Given the description of an element on the screen output the (x, y) to click on. 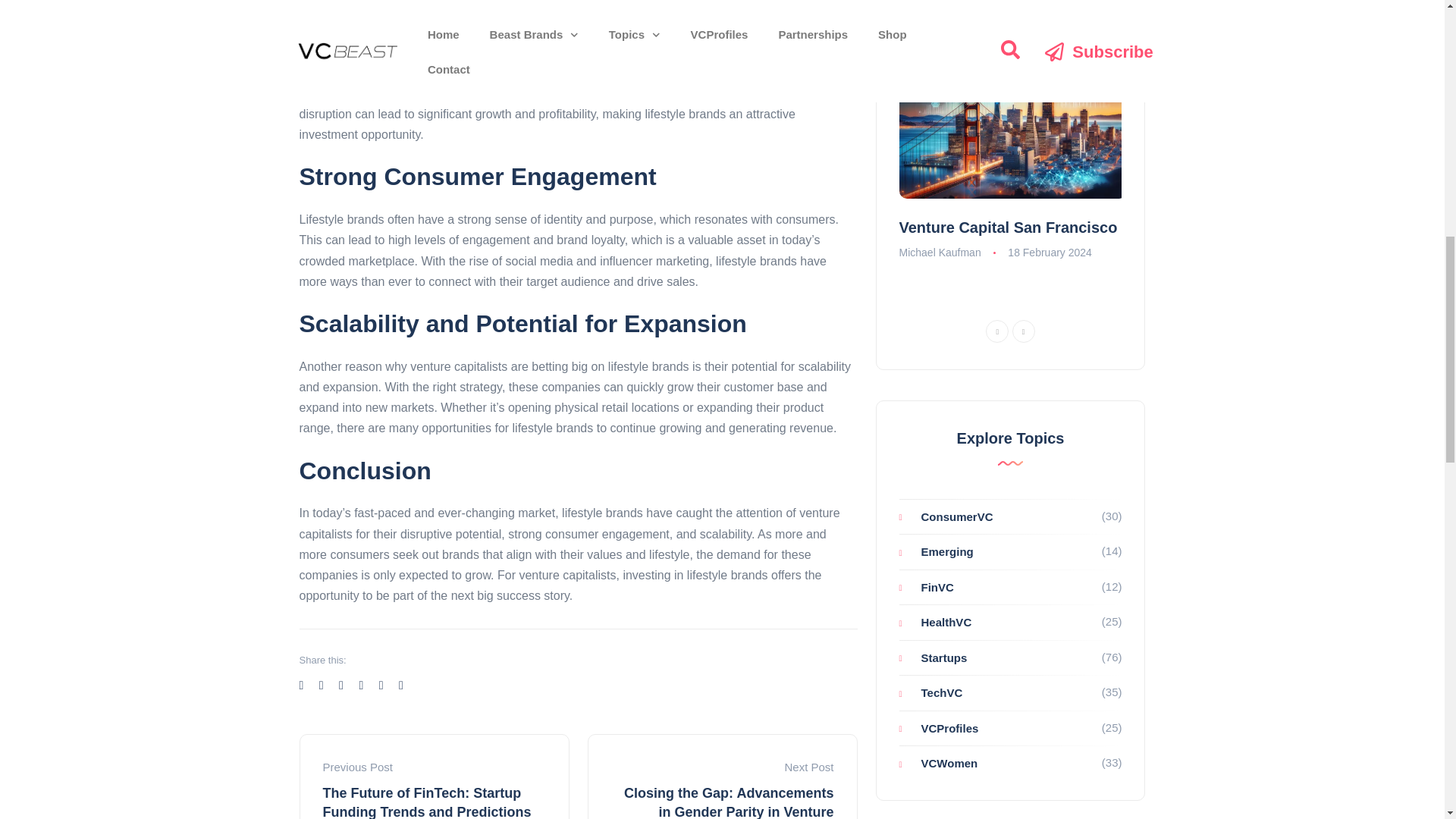
Posts by Michael Kaufman (940, 252)
